Given the description of an element on the screen output the (x, y) to click on. 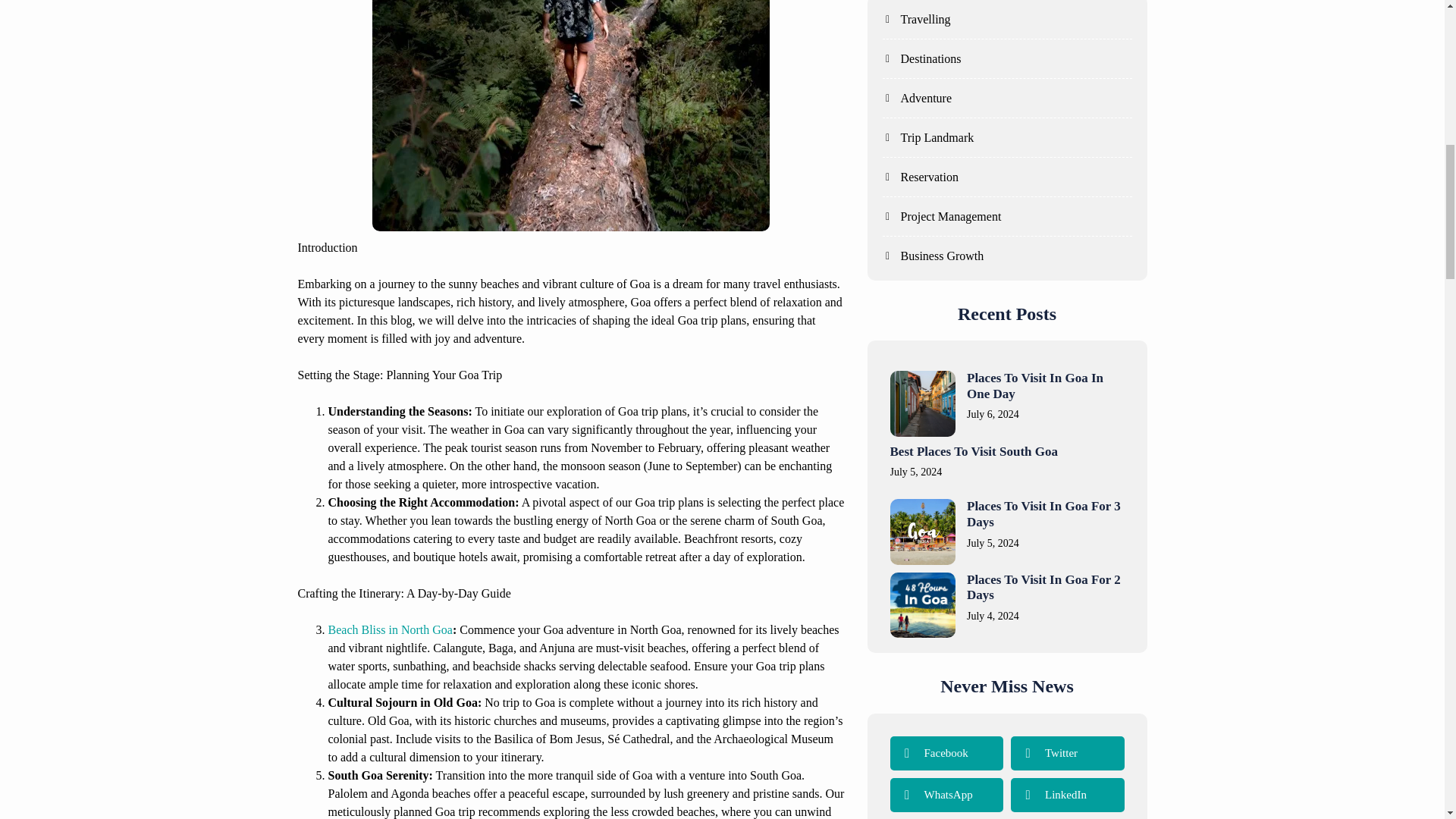
Destinations (921, 58)
Beach Bliss in North Goa (389, 629)
Adventure (917, 98)
Travelling (916, 19)
